Given the description of an element on the screen output the (x, y) to click on. 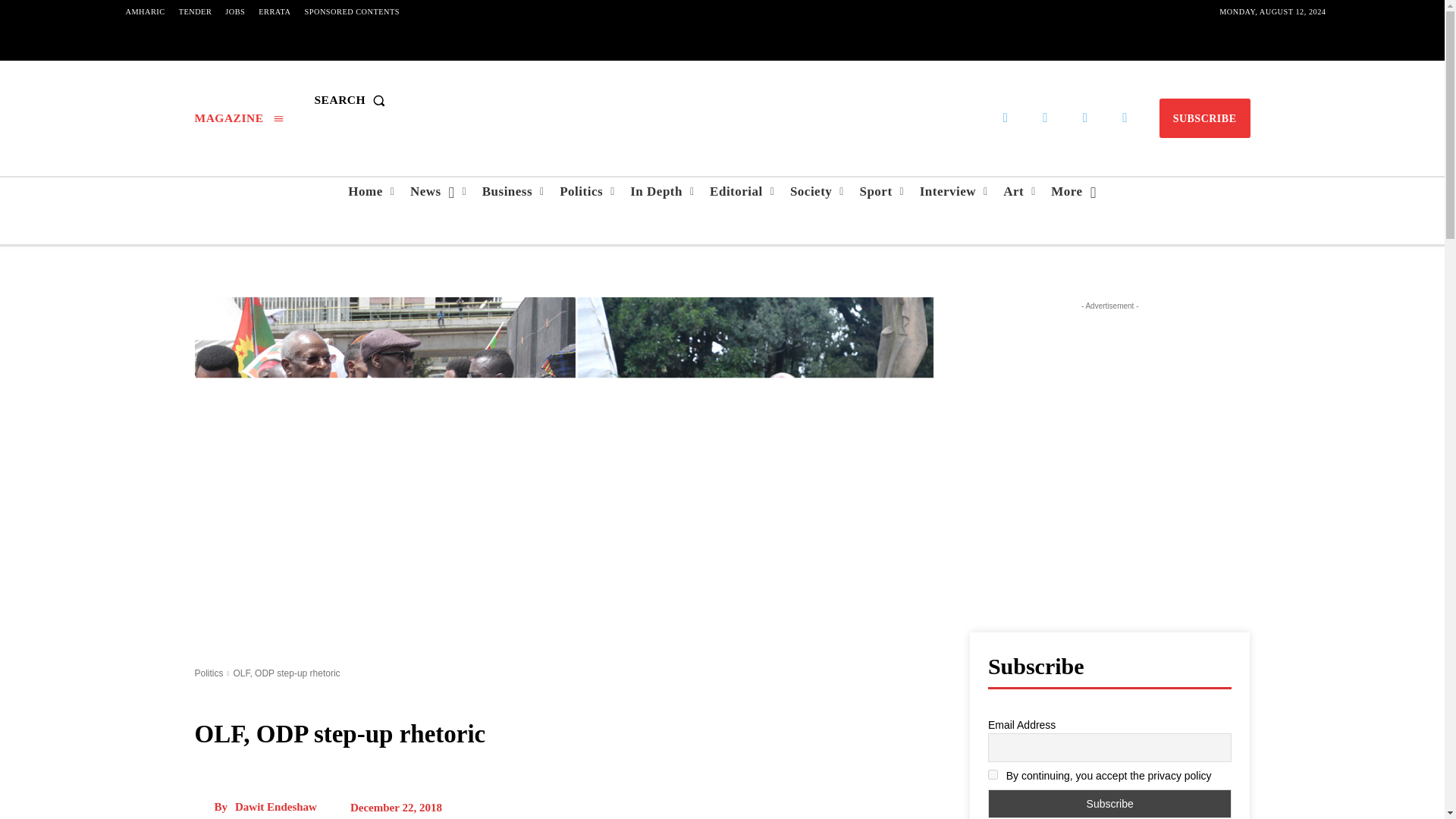
SPONSORED CONTENTS (352, 12)
JOBS (234, 12)
on (992, 774)
Subscribe (1109, 803)
Telegram (1045, 118)
Magazine (238, 117)
Facebook (1006, 118)
The Reporter Ethiopia, Ethiopian News (721, 99)
The Reporter Ethiopia, Ethiopian News (721, 99)
MAGAZINE (238, 117)
